Given the description of an element on the screen output the (x, y) to click on. 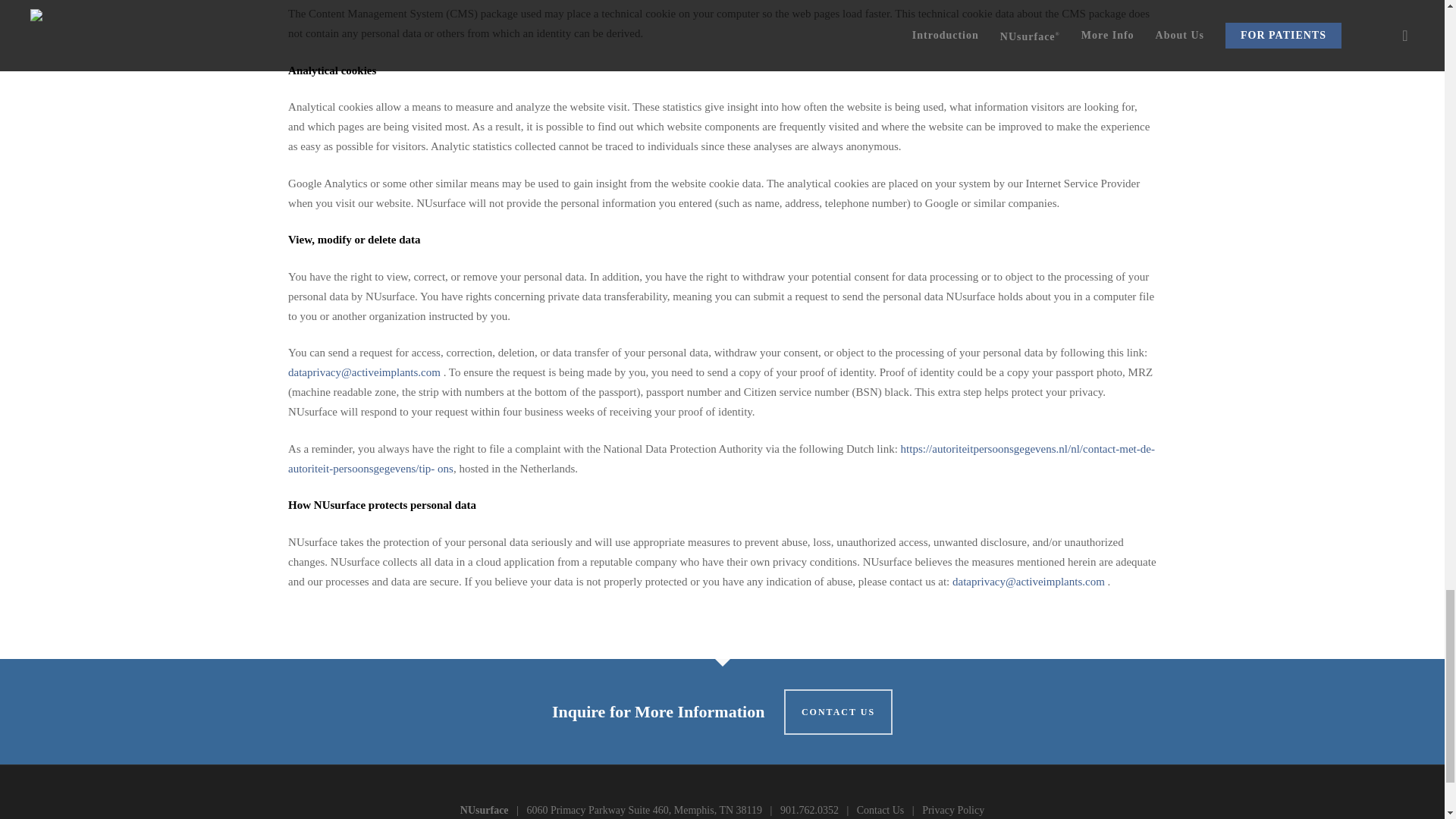
CONTACT US (838, 711)
ons (442, 468)
Contact Us (880, 809)
Privacy Policy (952, 809)
